Given the description of an element on the screen output the (x, y) to click on. 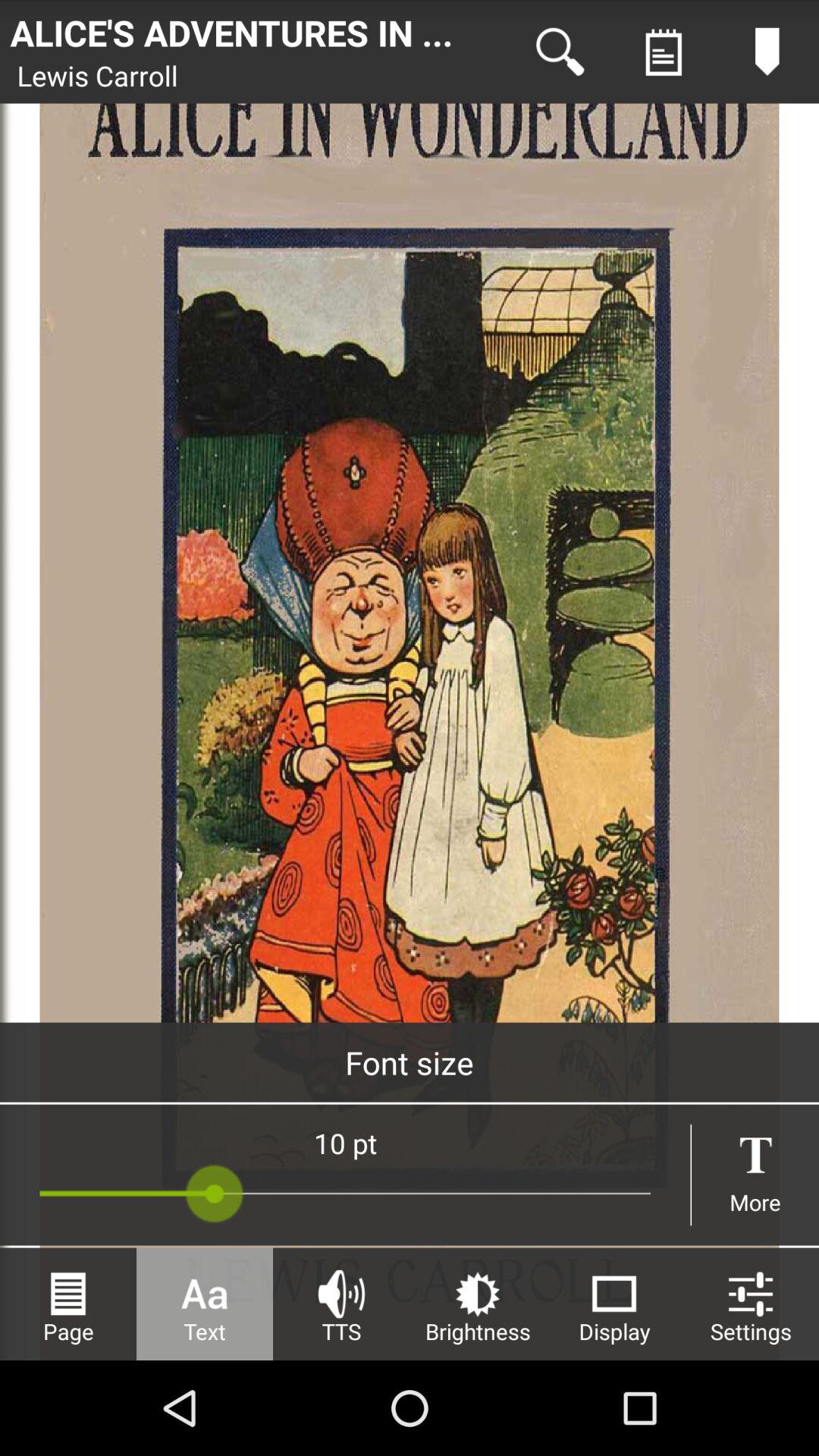
go to save button (663, 51)
